Given the description of an element on the screen output the (x, y) to click on. 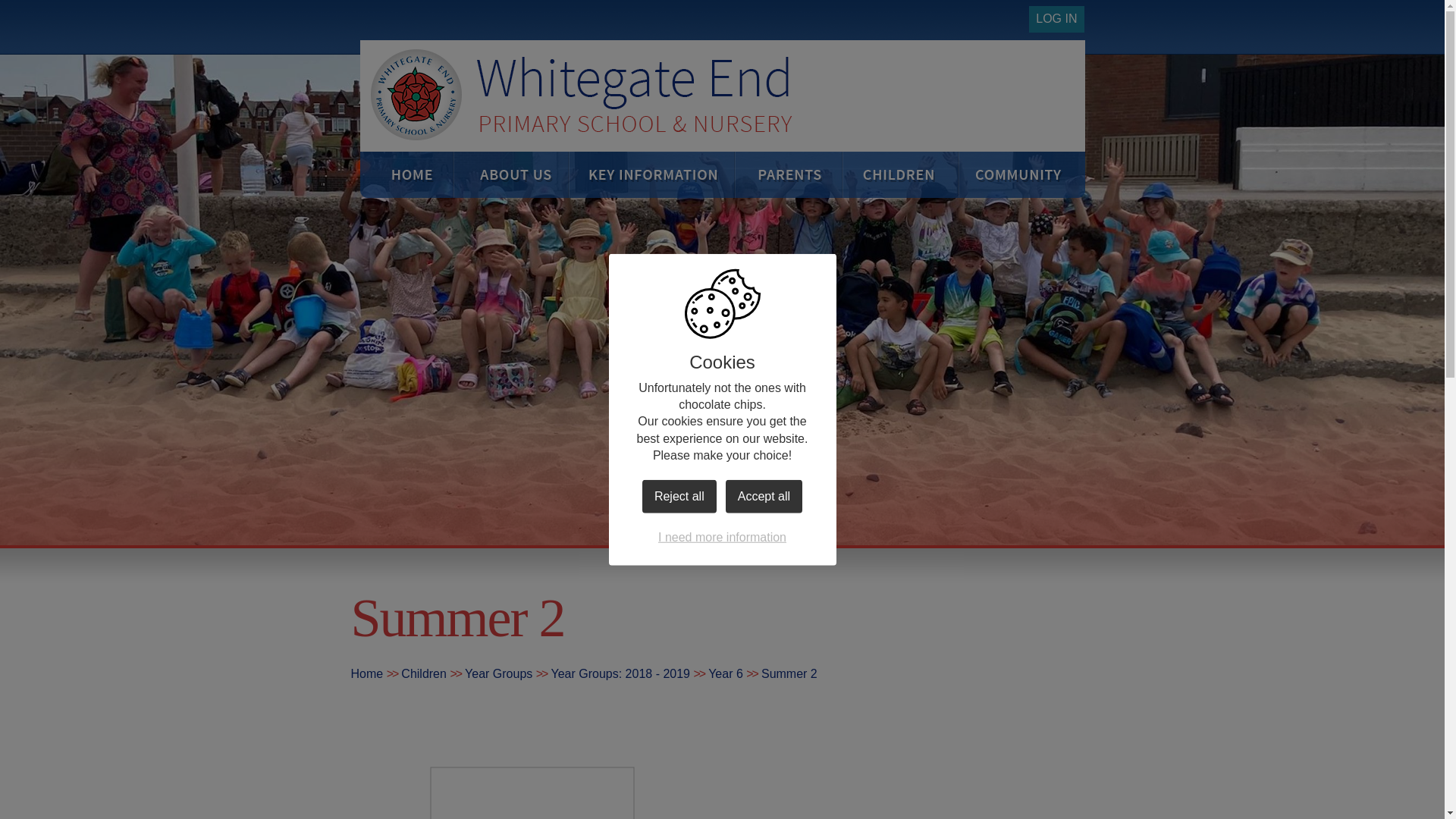
LOG IN (1056, 18)
About Us (521, 174)
Home (418, 174)
